Given the description of an element on the screen output the (x, y) to click on. 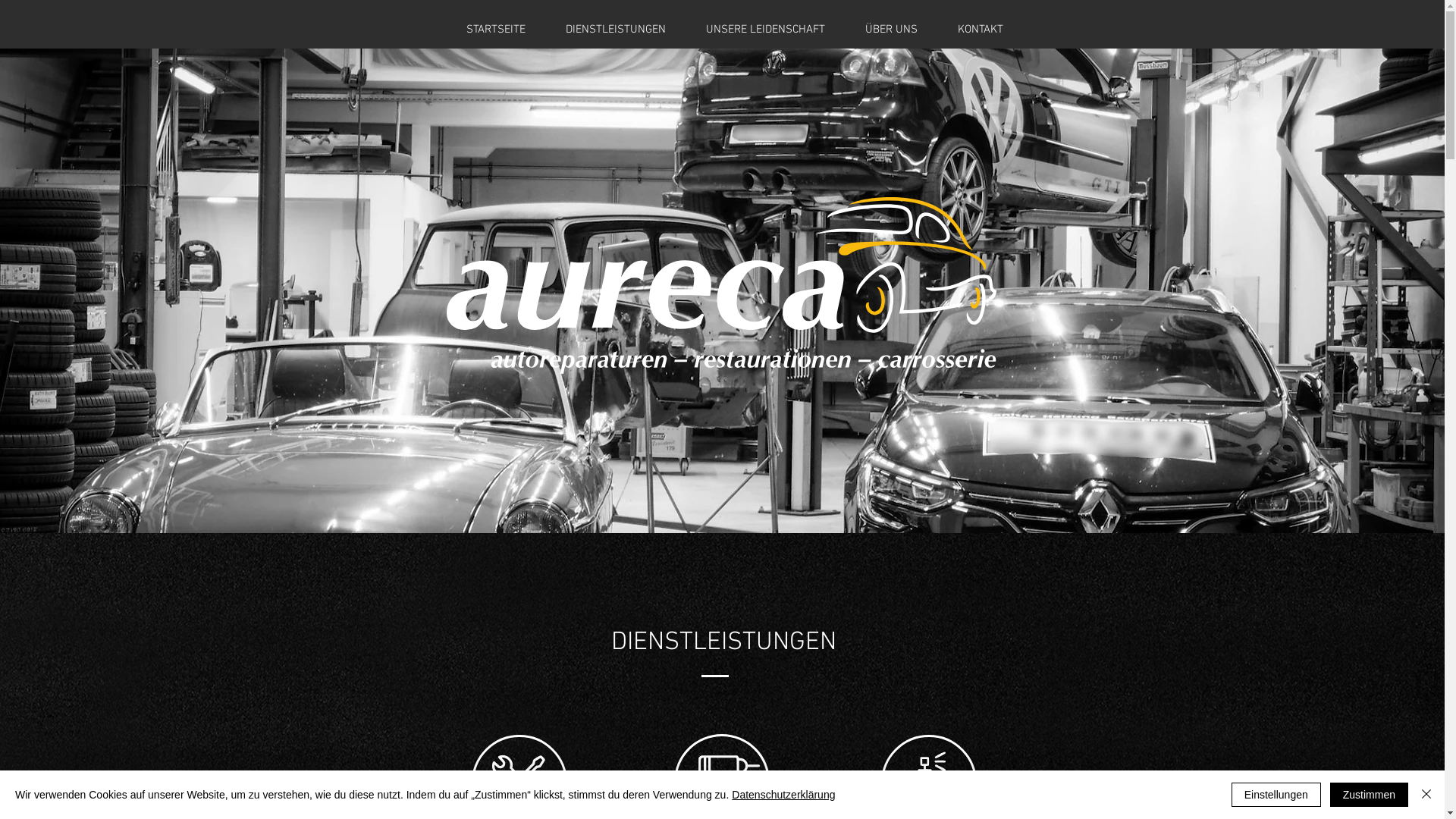
Einstellungen Element type: text (1276, 794)
UNSERE LEIDENSCHAFT Element type: text (764, 29)
STARTSEITE Element type: text (495, 29)
DIENSTLEISTUNGEN Element type: text (616, 29)
Zustimmen Element type: text (1369, 794)
KONTAKT Element type: text (979, 29)
